Given the description of an element on the screen output the (x, y) to click on. 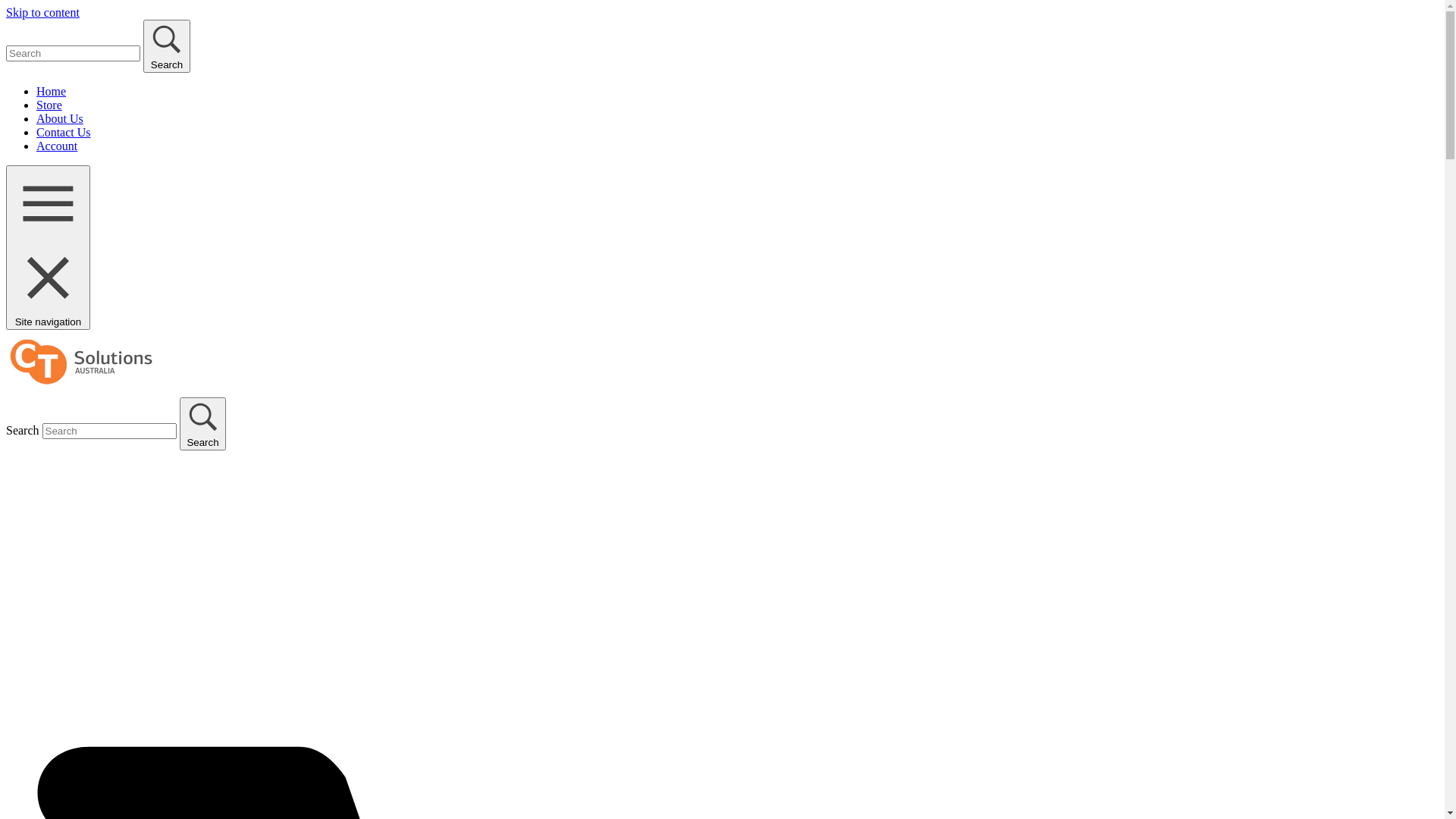
Search Element type: text (166, 45)
Skip to content Element type: text (42, 12)
Home Element type: text (50, 90)
Store Element type: text (49, 104)
Account Element type: text (56, 145)
Site navigation Element type: text (48, 247)
Contact Us Element type: text (63, 131)
Search Element type: text (202, 423)
About Us Element type: text (59, 118)
